Given the description of an element on the screen output the (x, y) to click on. 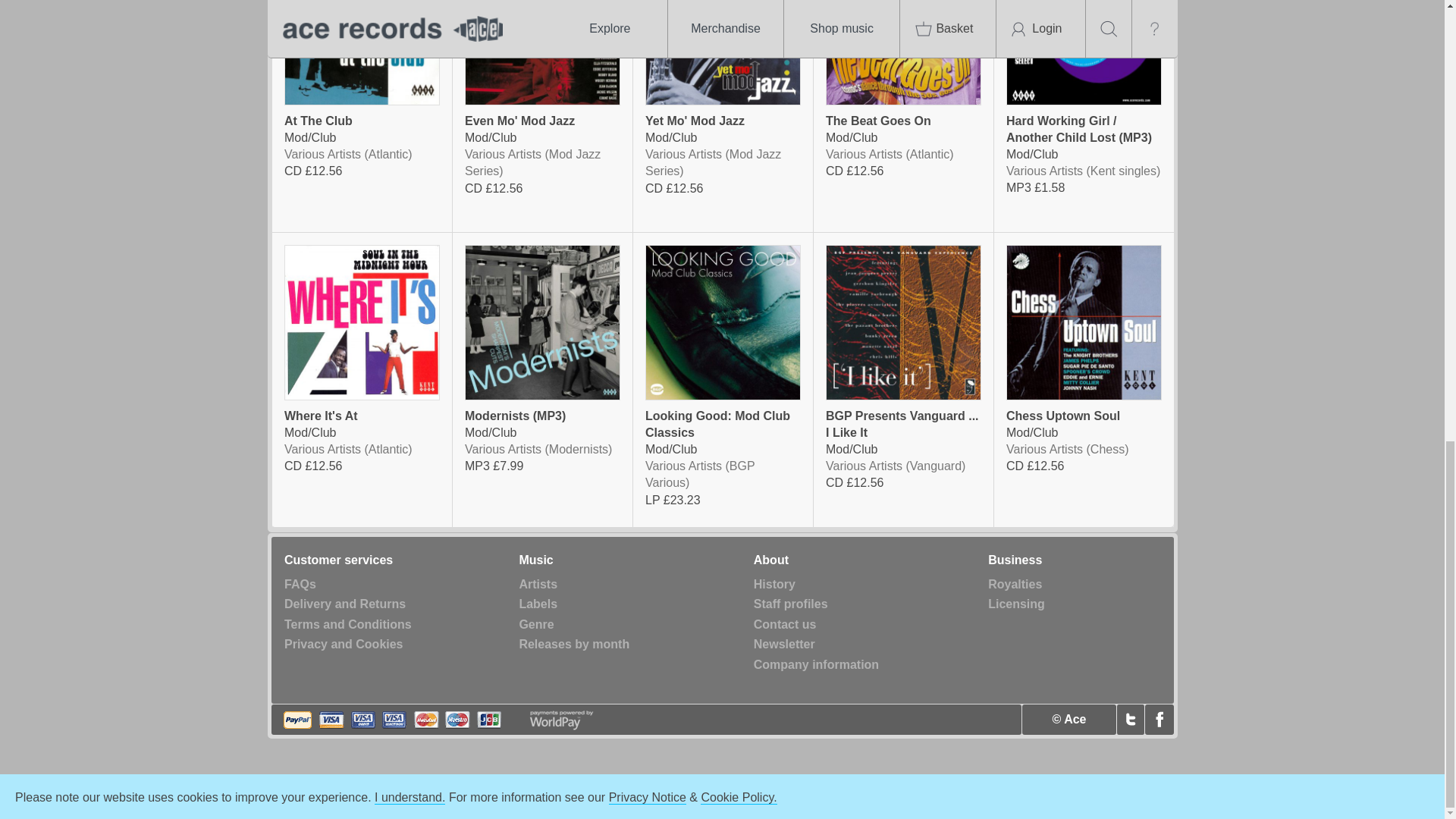
Facebook (1158, 719)
Twitter (1130, 719)
